Given the description of an element on the screen output the (x, y) to click on. 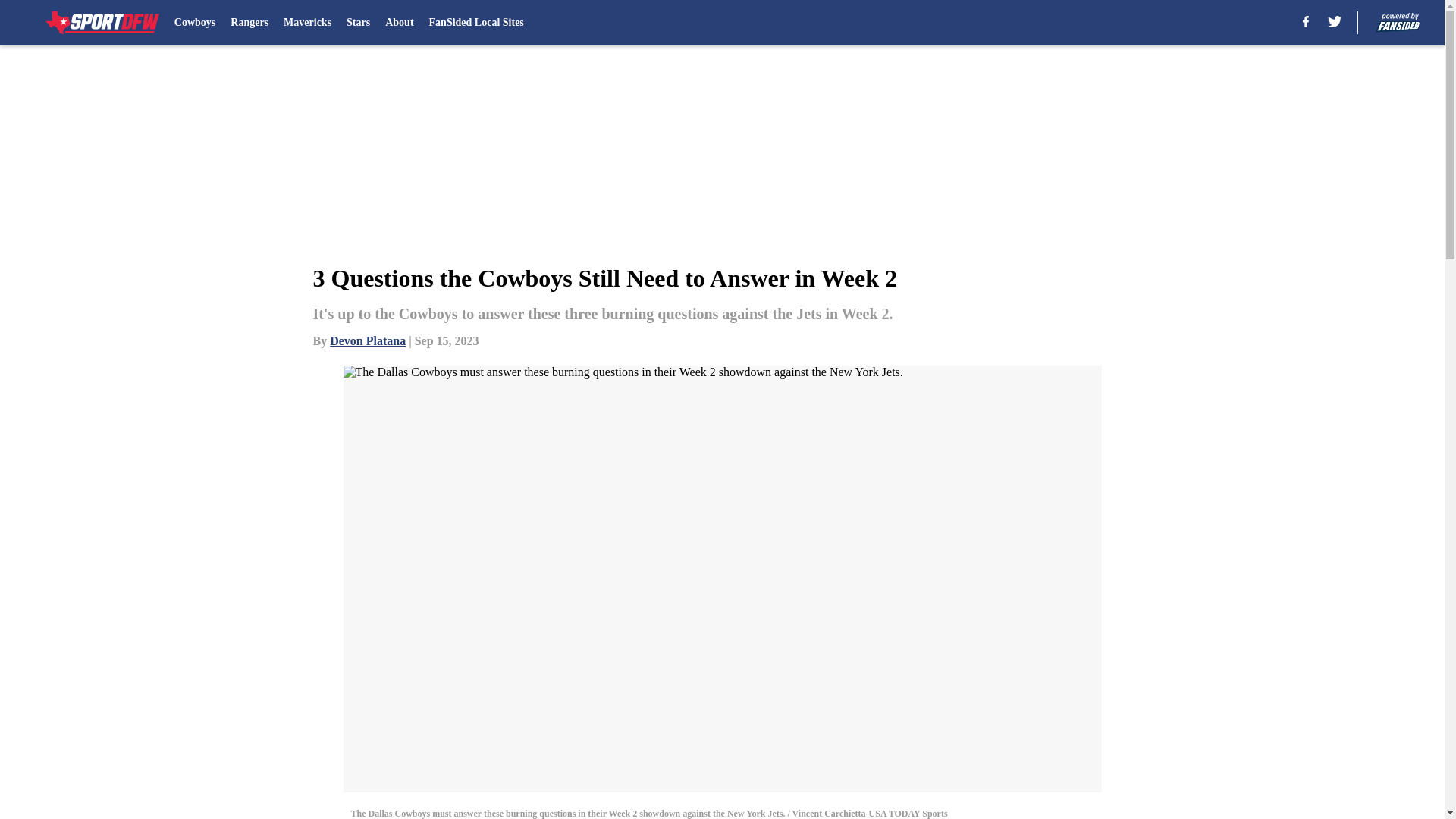
Stars (357, 22)
Mavericks (307, 22)
About (399, 22)
Devon Platana (368, 340)
Rangers (248, 22)
FanSided Local Sites (476, 22)
Cowboys (194, 22)
